Given the description of an element on the screen output the (x, y) to click on. 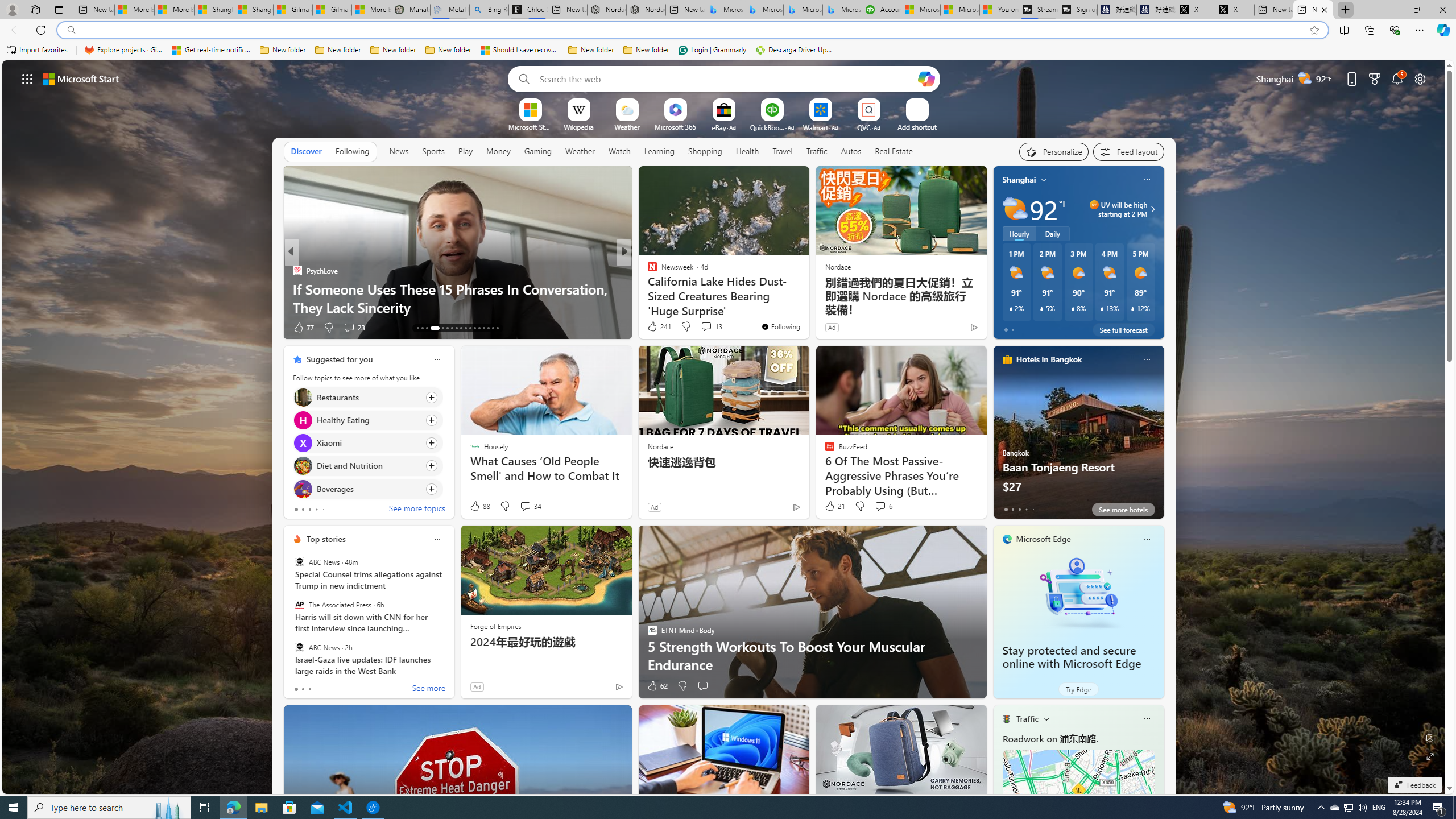
248 Like (654, 327)
Stay protected and secure online with Microsoft Edge (1071, 657)
241 Like (658, 326)
Descarga Driver Updater (794, 49)
Click to follow topic Healthy Eating (367, 419)
Georgia quarterback commit to miss season with knee injury (807, 298)
Change scenarios (1045, 718)
AutomationID: tab-25 (478, 328)
Personalize your feed" (1054, 151)
16 Like (652, 327)
